Given the description of an element on the screen output the (x, y) to click on. 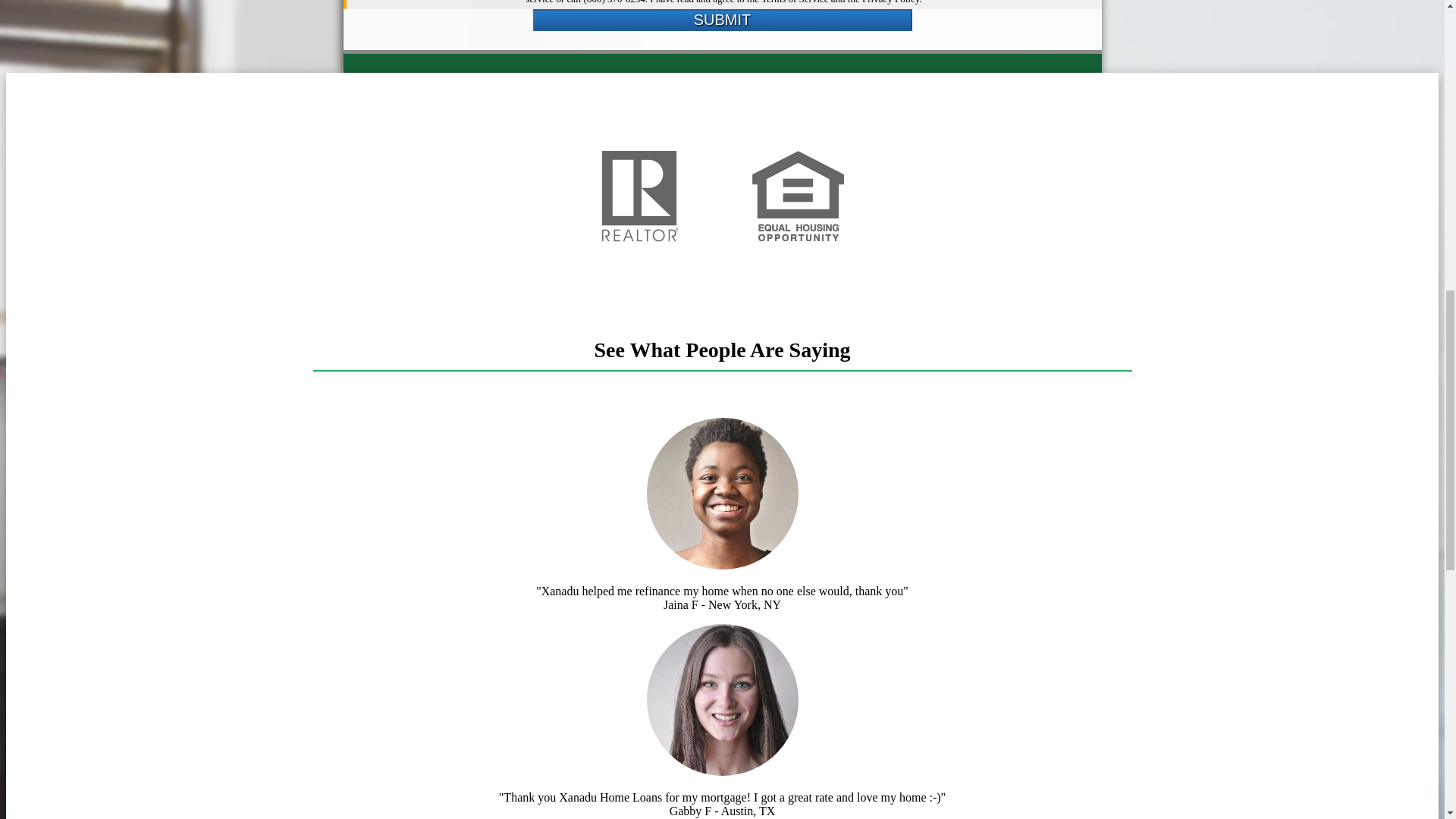
SUBMIT (721, 20)
